Given the description of an element on the screen output the (x, y) to click on. 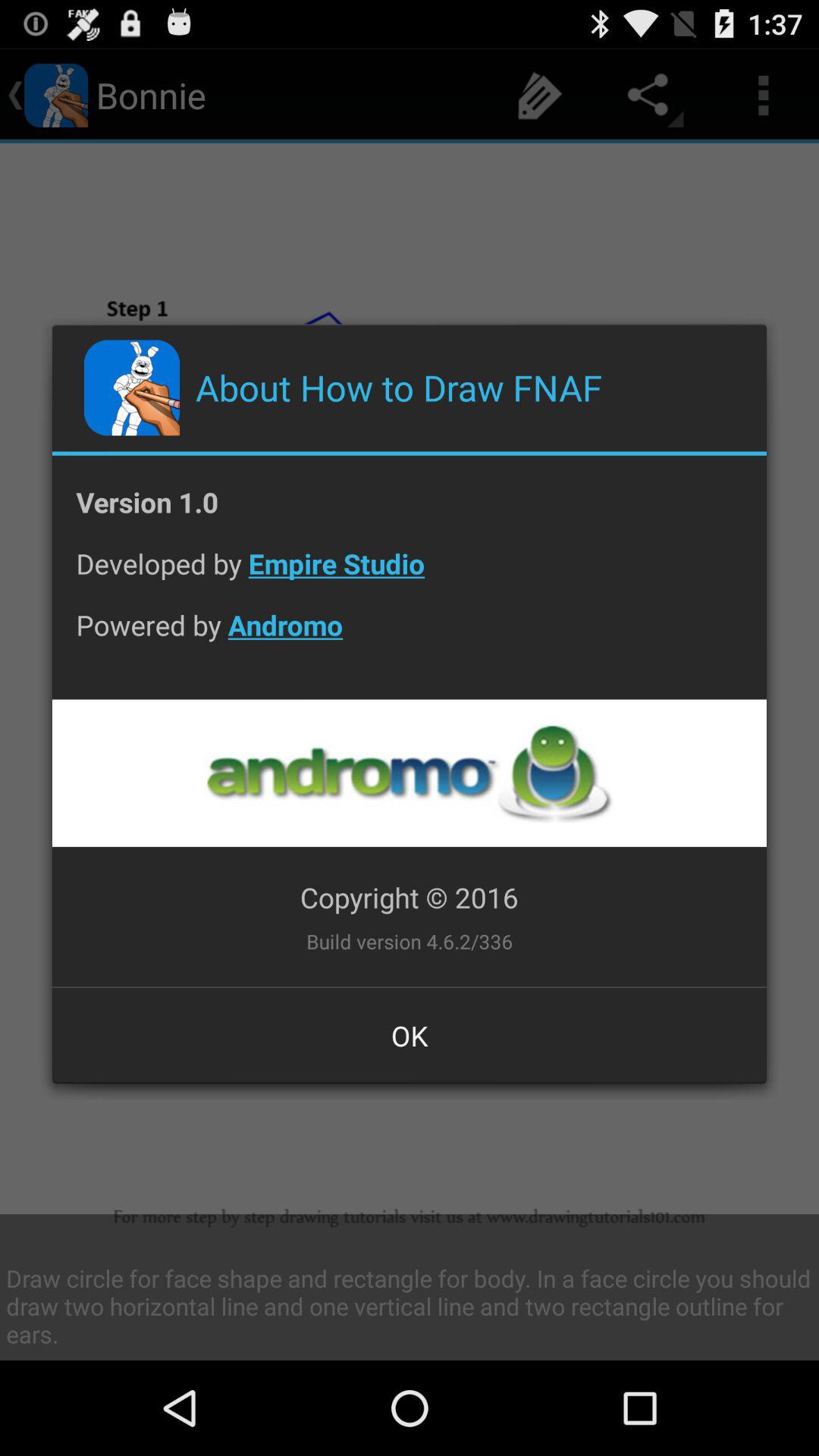
press the app below the build version 4 icon (409, 1035)
